Given the description of an element on the screen output the (x, y) to click on. 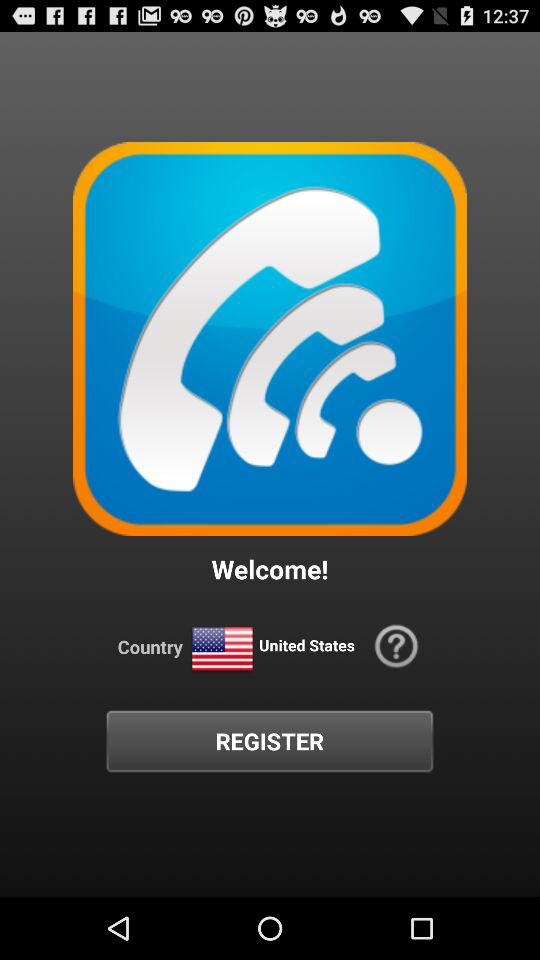
tap icon above register (221, 649)
